Given the description of an element on the screen output the (x, y) to click on. 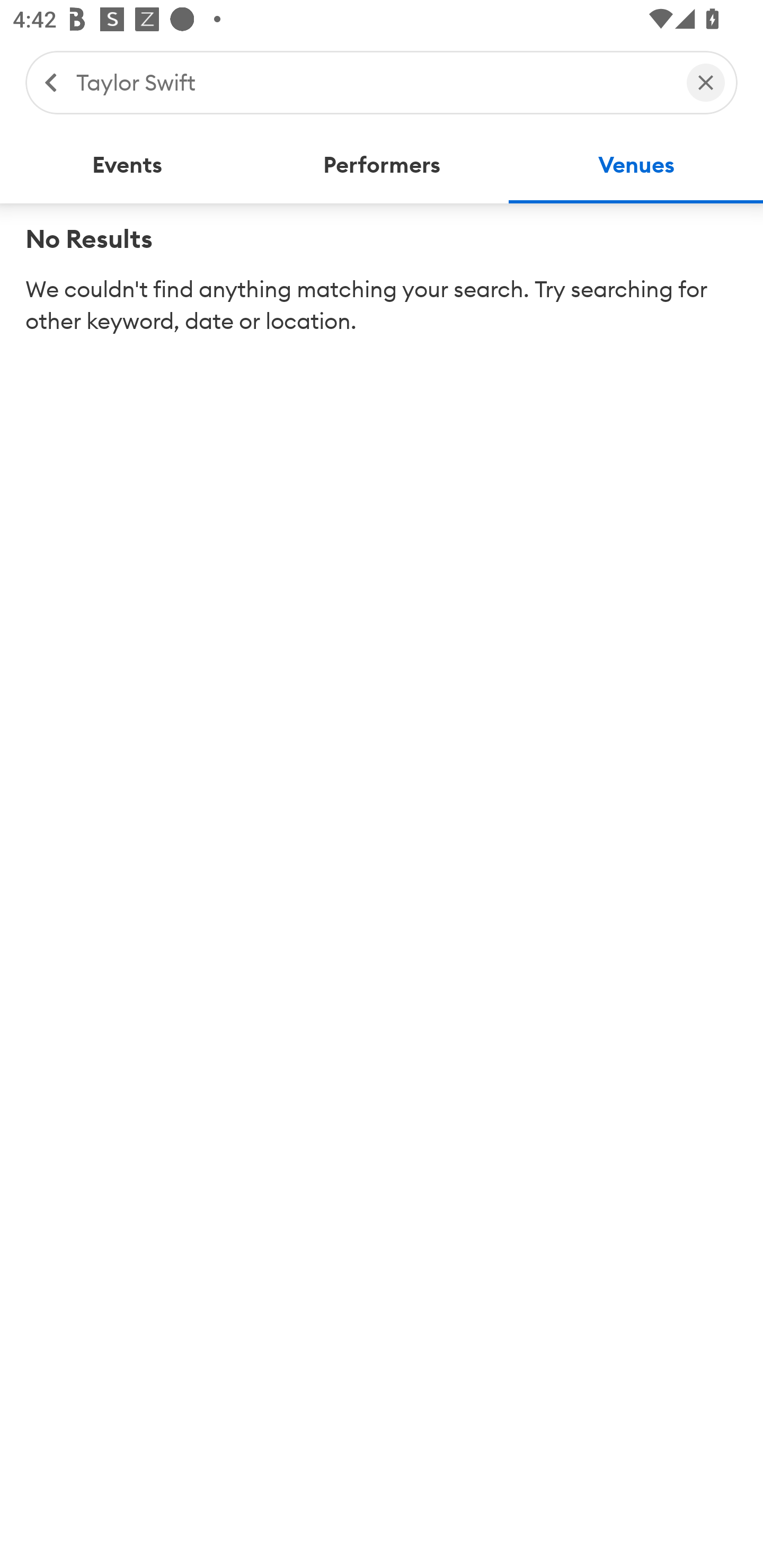
Taylor Swift (371, 81)
Clear Search (705, 81)
Events (127, 165)
Performers (381, 165)
